Given the description of an element on the screen output the (x, y) to click on. 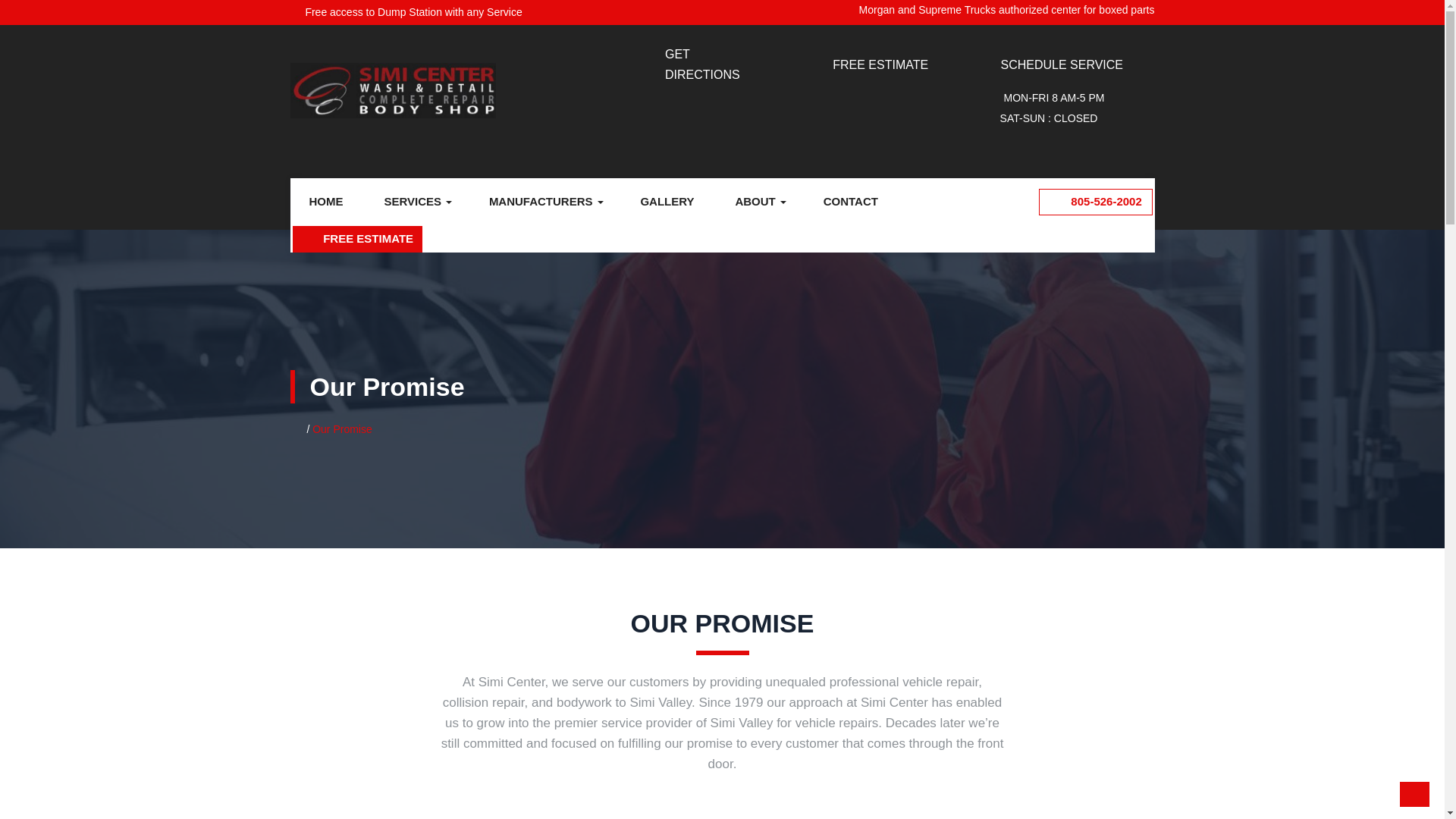
HOME (325, 202)
SCHEDULE SERVICE (1062, 63)
SERVICES (416, 202)
GET DIRECTIONS (702, 64)
MANUFACTURERS (544, 202)
FREE ESTIMATE (880, 63)
